Given the description of an element on the screen output the (x, y) to click on. 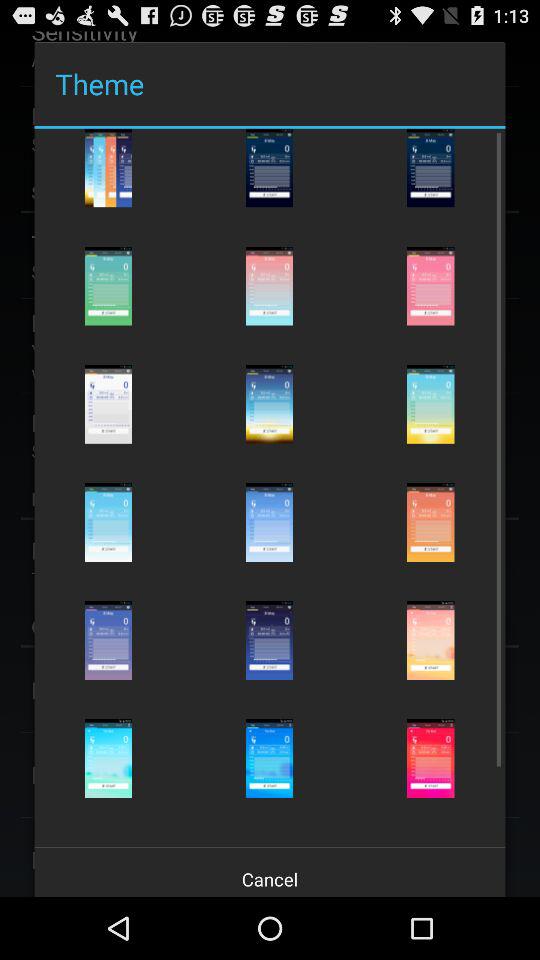
flip to the cancel icon (269, 871)
